Given the description of an element on the screen output the (x, y) to click on. 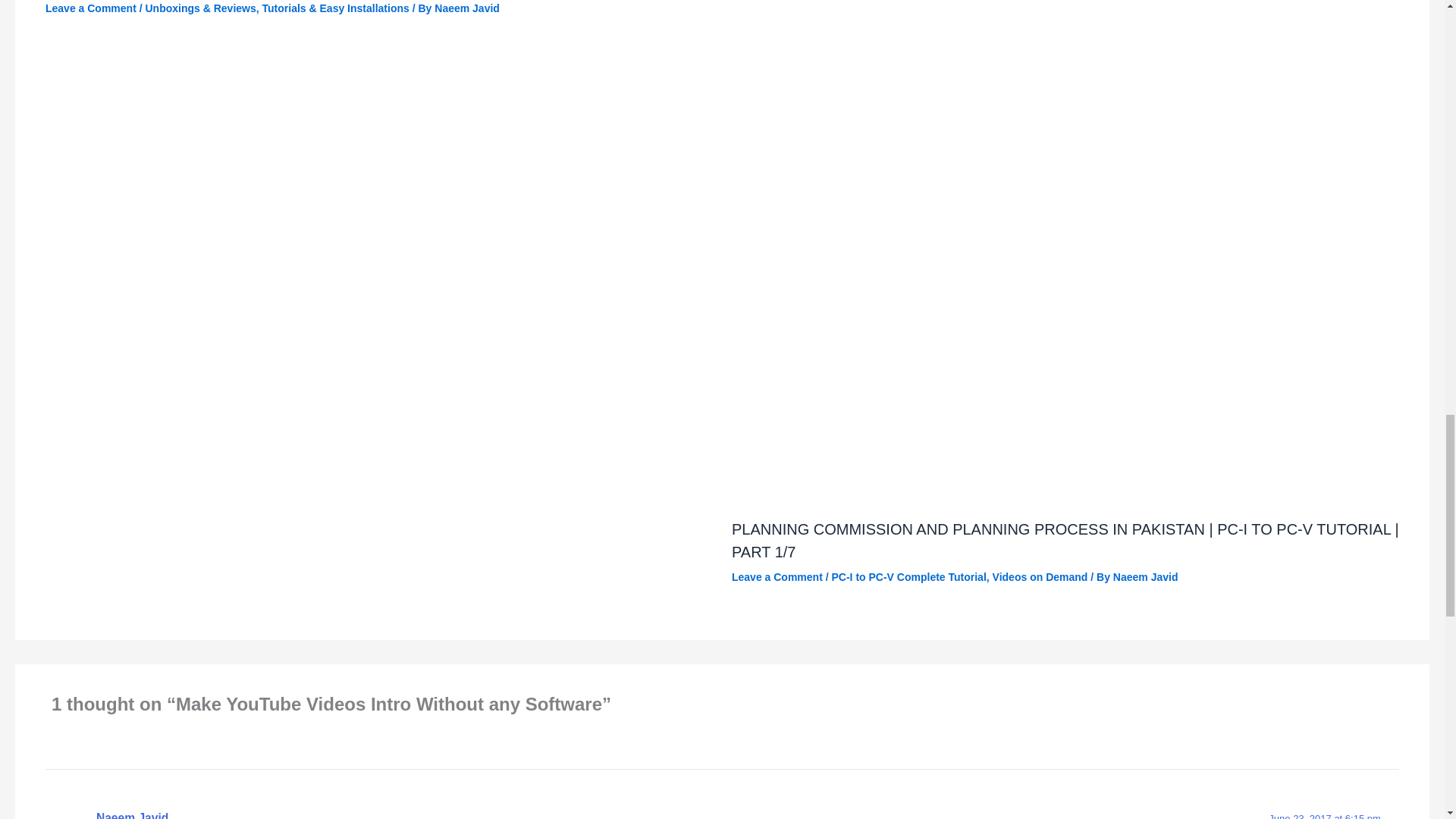
View all posts by Naeem Javid (1145, 576)
Naeem Javid (466, 8)
Leave a Comment (90, 8)
View all posts by Naeem Javid (466, 8)
